Given the description of an element on the screen output the (x, y) to click on. 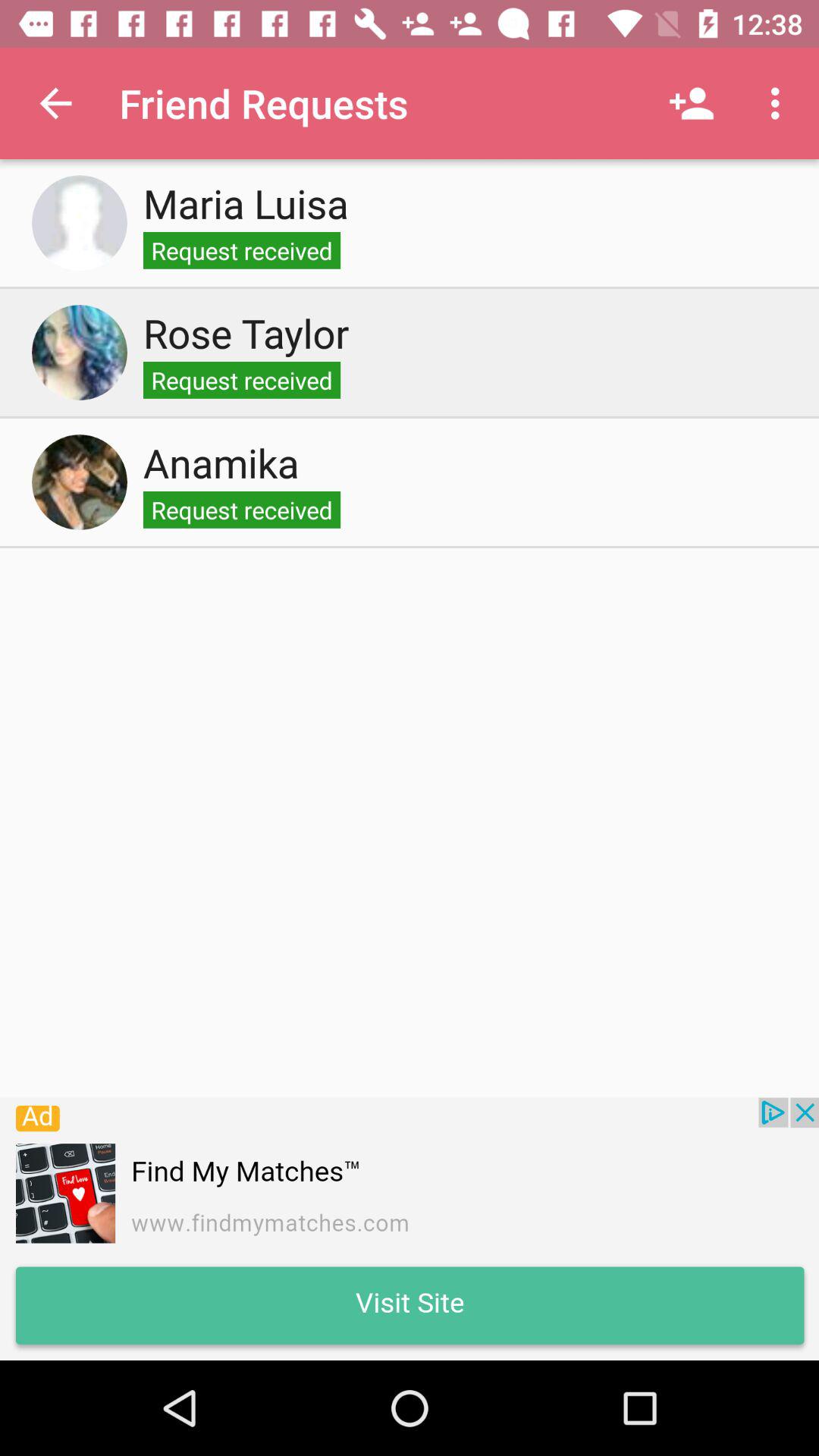
accept request (79, 222)
